Given the description of an element on the screen output the (x, y) to click on. 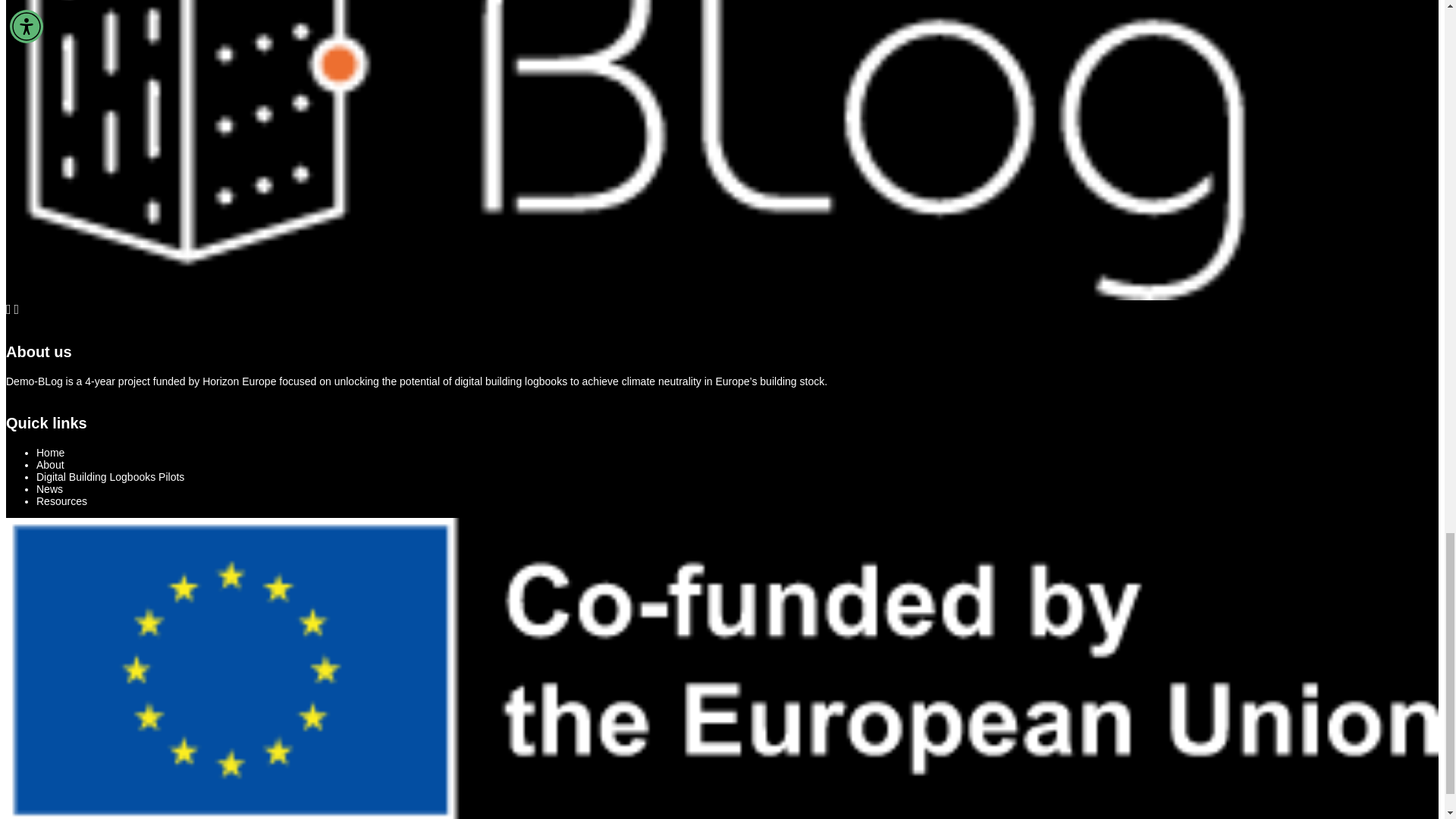
Resources (61, 500)
Home (50, 452)
About (50, 464)
Digital Building Logbooks Pilots (110, 476)
News (49, 489)
